Given the description of an element on the screen output the (x, y) to click on. 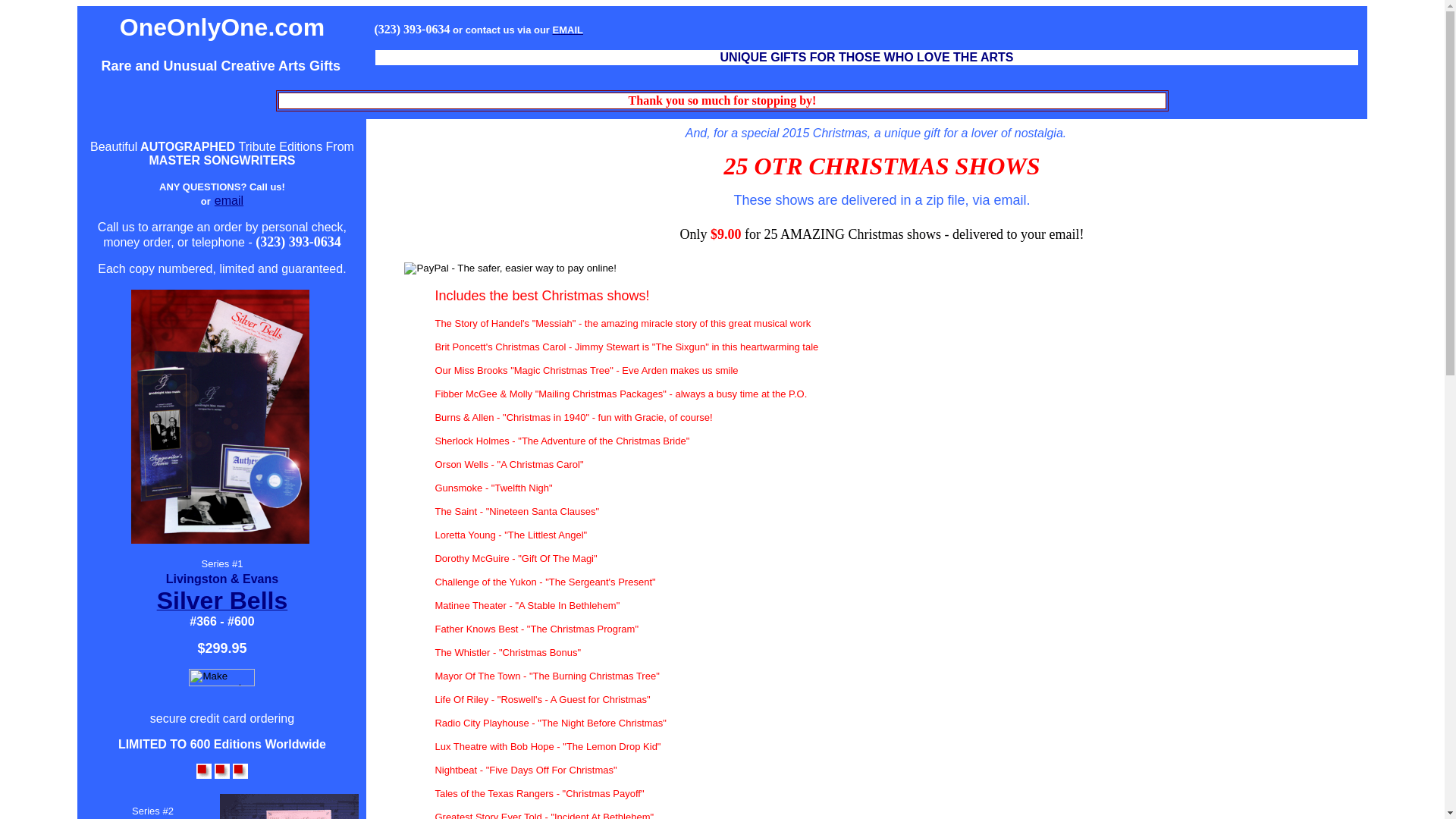
EMAIL Element type: text (567, 28)
email Element type: text (228, 200)
Silver Bells Element type: text (222, 604)
